Given the description of an element on the screen output the (x, y) to click on. 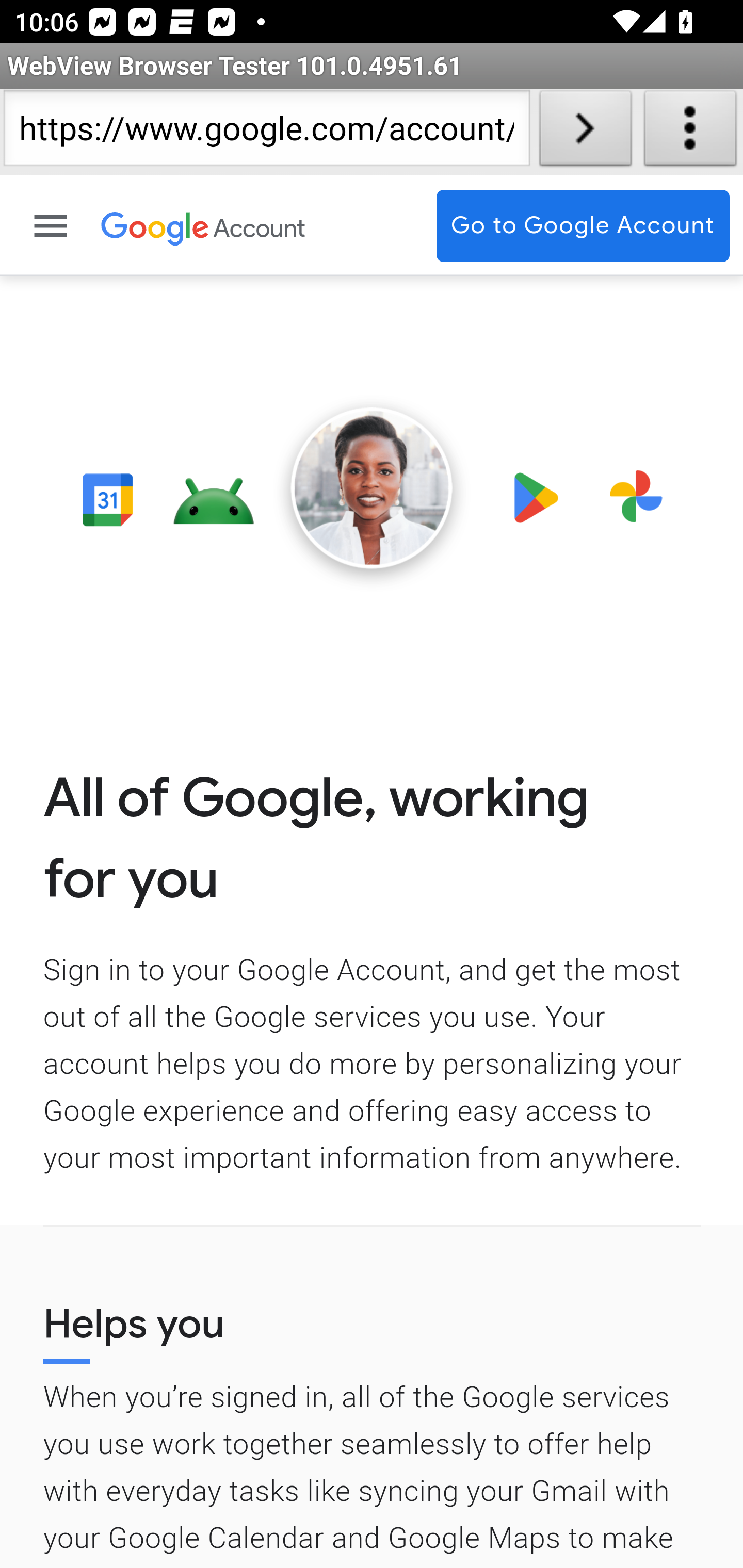
Load URL (585, 132)
About WebView (690, 132)
Google logo (156, 226)
Google Account Account (259, 226)
Open the navigation drawer (51, 226)
Go to your Google Account Go to Google Account (582, 226)
